Given the description of an element on the screen output the (x, y) to click on. 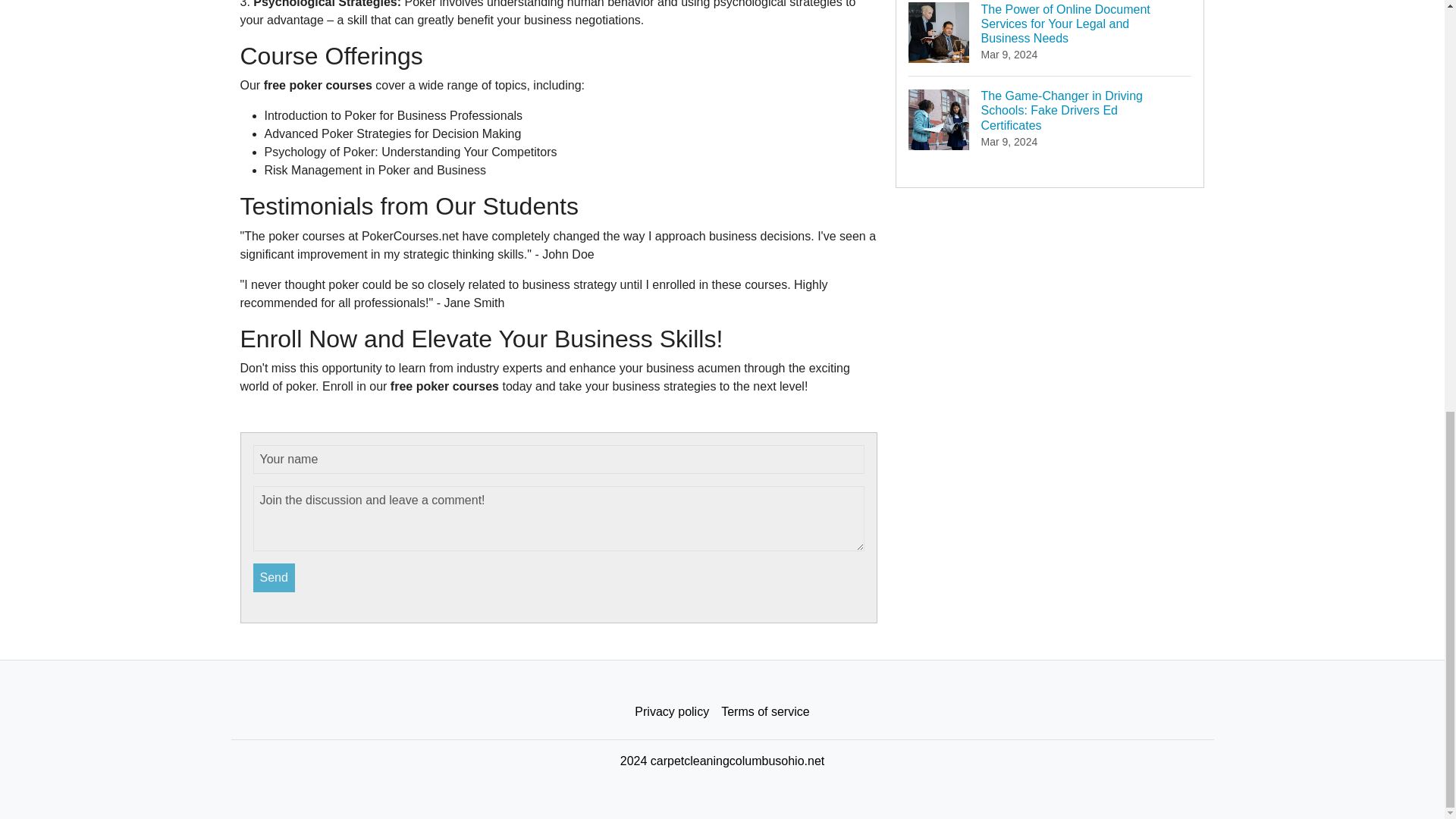
Terms of service (764, 711)
Send (274, 577)
Send (274, 577)
Privacy policy (671, 711)
